Given the description of an element on the screen output the (x, y) to click on. 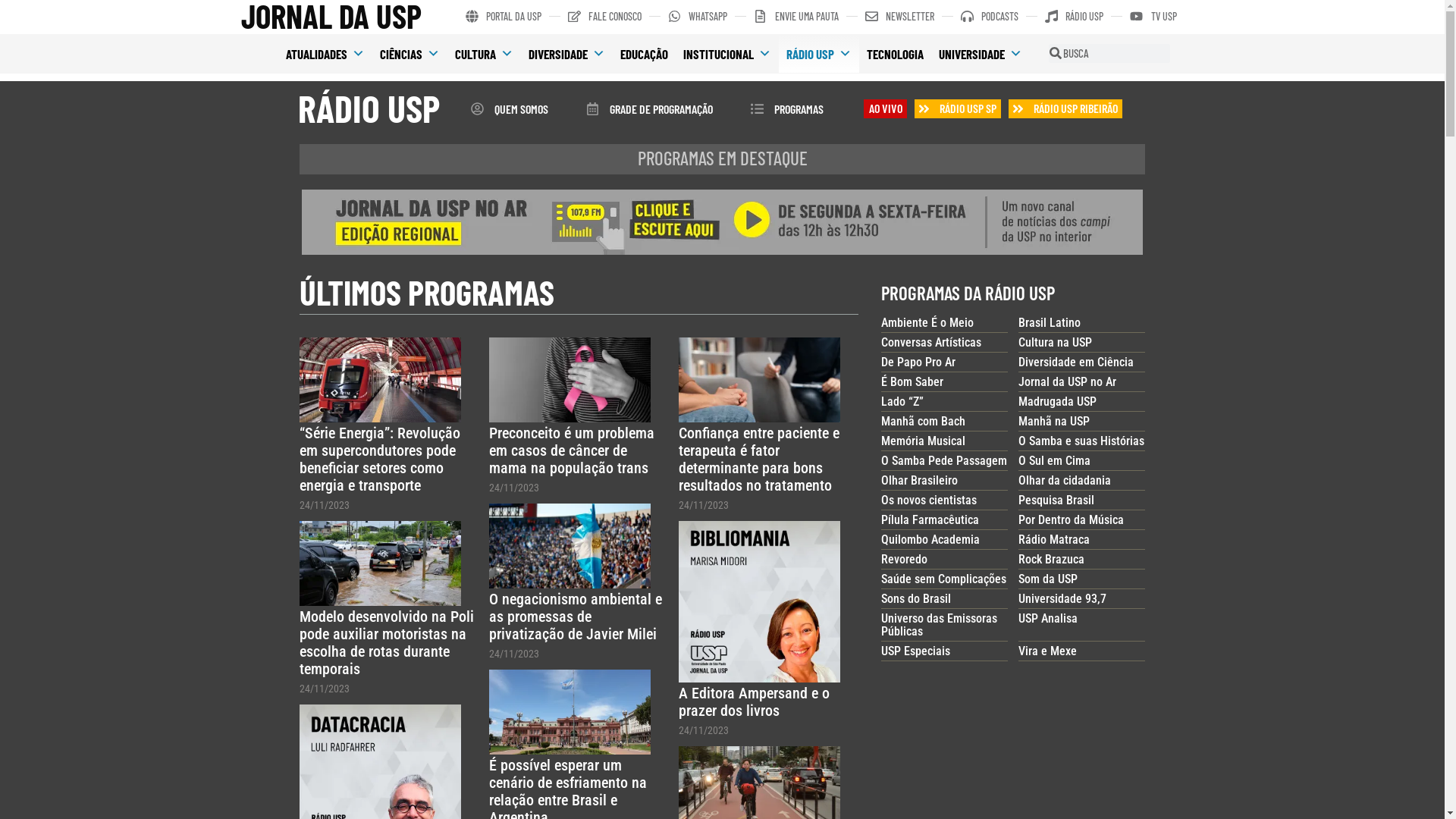
A Editora Ampersand e o prazer dos livros Element type: text (753, 701)
ATUALIDADES Element type: text (325, 53)
NEWSLETTER Element type: text (898, 15)
DIVERSIDADE Element type: text (566, 53)
Pesquisa Brasil Element type: text (1056, 499)
Rock Brazuca Element type: text (1051, 559)
Vira e Mexe Element type: text (1047, 650)
Quilombo Academia Element type: text (930, 539)
Olhar da cidadania Element type: text (1064, 480)
Cultura na USP Element type: text (1055, 342)
Madrugada USP Element type: text (1057, 401)
Universidade 93,7 Element type: text (1062, 598)
AO VIVO Element type: text (885, 108)
PORTAL DA USP Element type: text (503, 15)
Olhar Brasileiro Element type: text (919, 480)
TECNOLOGIA Element type: text (895, 53)
ENVIE UMA PAUTA Element type: text (795, 15)
PROGRAMAS Element type: text (786, 108)
Os novos cientistas Element type: text (928, 499)
INSTITUCIONAL Element type: text (726, 53)
FALE CONOSCO Element type: text (604, 15)
Sons do Brasil Element type: text (915, 598)
O Sul em Cima Element type: text (1054, 460)
Revoredo Element type: text (904, 559)
TV USP Element type: text (1152, 15)
UNIVERSIDADE Element type: text (980, 53)
Brasil Latino Element type: text (1049, 322)
Som da USP Element type: text (1047, 578)
USP Analisa Element type: text (1047, 618)
Jornal da USP no Ar Element type: text (1067, 381)
QUEM SOMOS Element type: text (508, 108)
O Samba Pede Passagem Element type: text (944, 460)
USP Especiais Element type: text (915, 650)
PODCASTS Element type: text (989, 15)
De Papo Pro Ar Element type: text (918, 361)
CULTURA Element type: text (483, 53)
WHATSAPP Element type: text (697, 15)
